Given the description of an element on the screen output the (x, y) to click on. 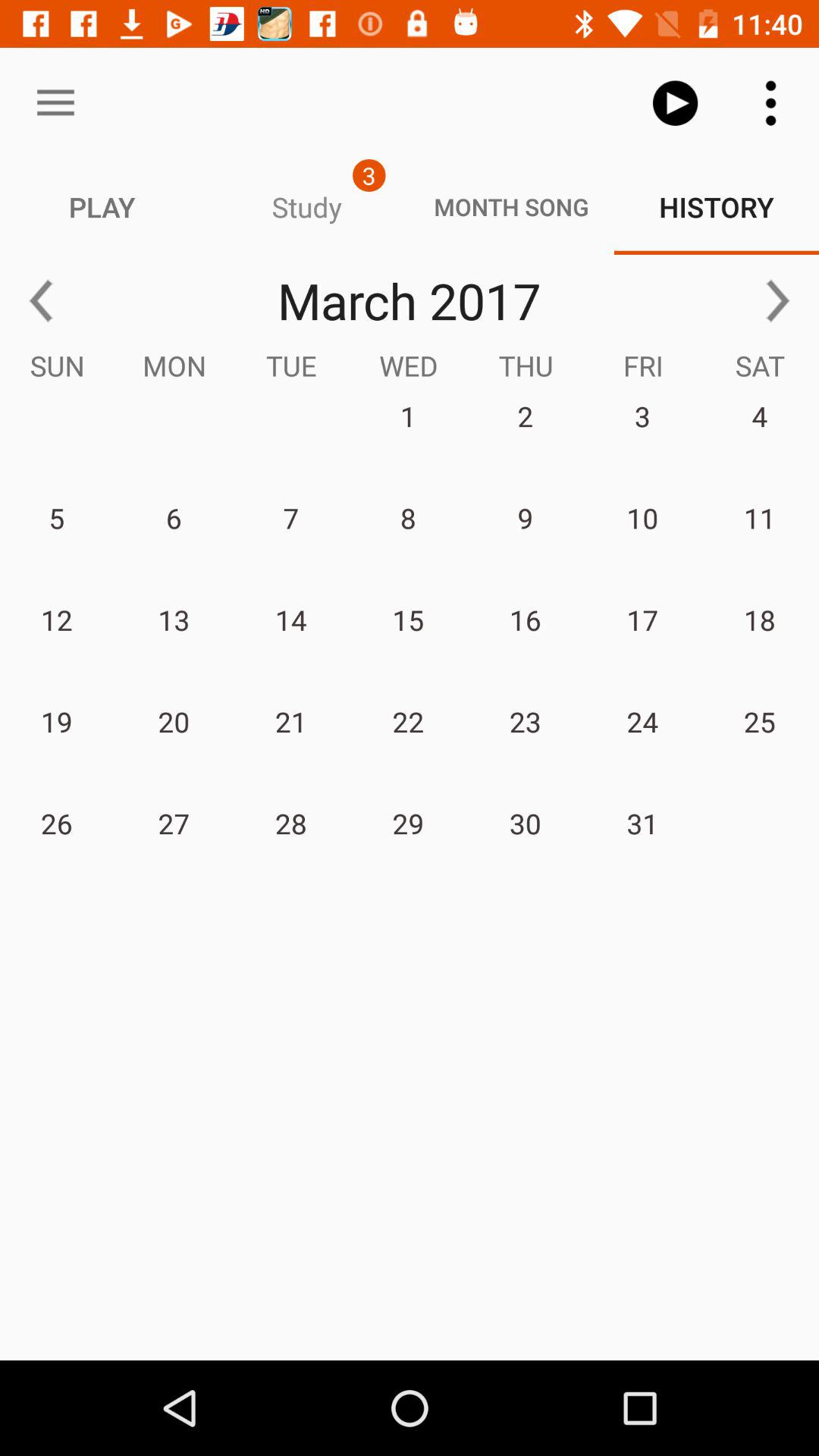
choose the item to the left of the 3 (55, 103)
